Given the description of an element on the screen output the (x, y) to click on. 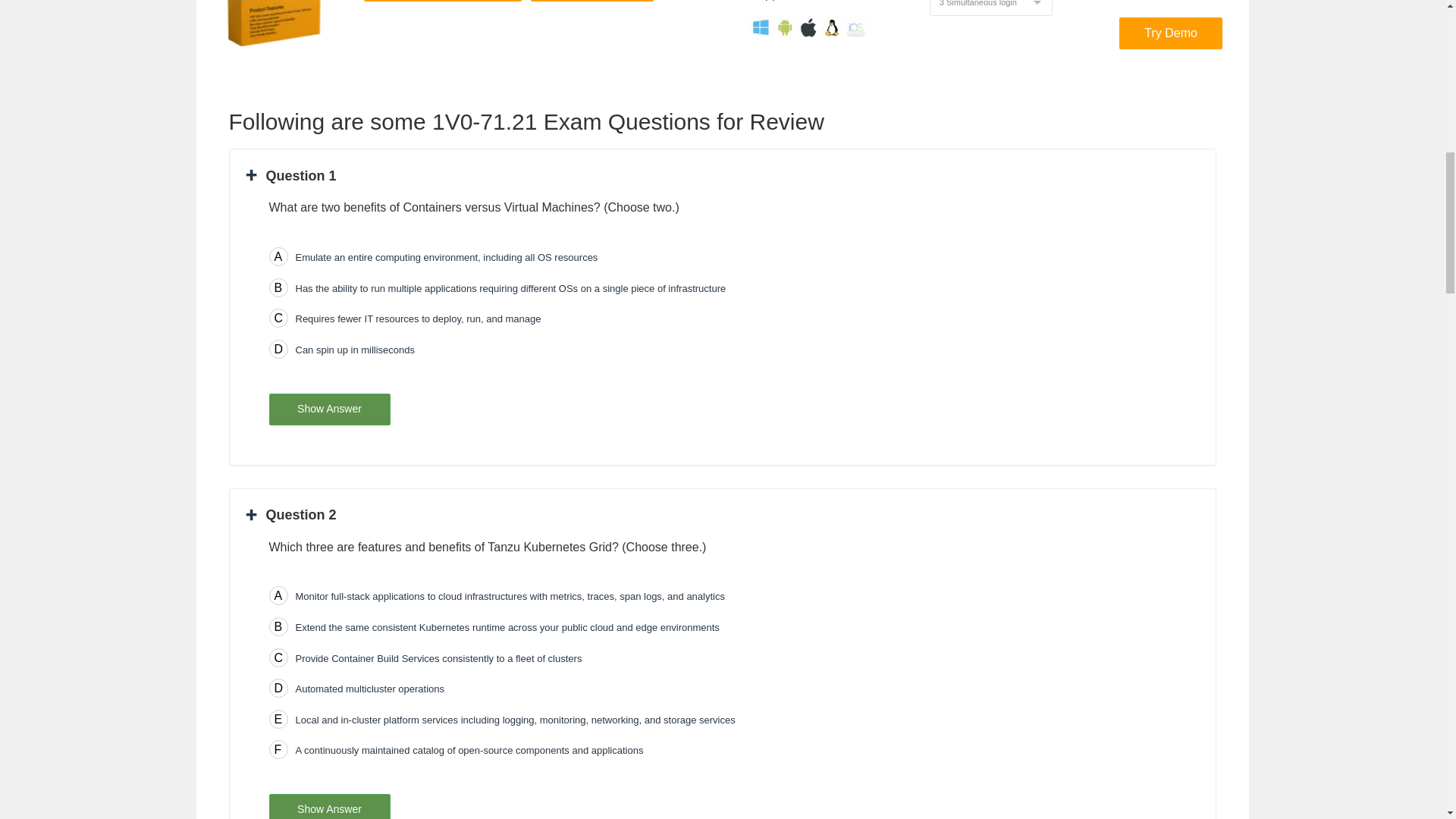
Try Demo (1171, 33)
Show Answer (328, 806)
Question 1 (291, 175)
Show Answer (328, 409)
Question 2 (291, 514)
